Given the description of an element on the screen output the (x, y) to click on. 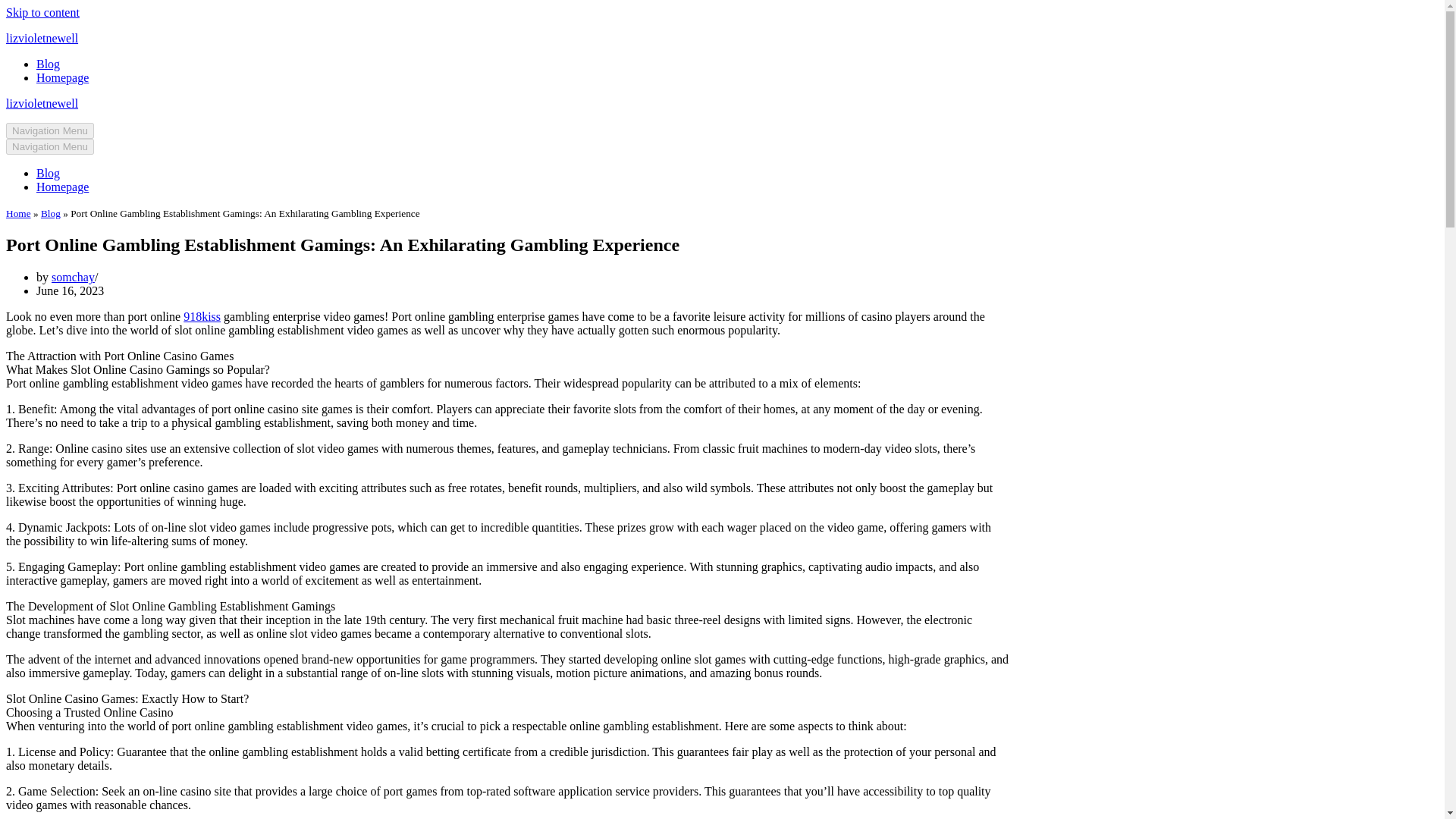
Blog (47, 173)
Navigation Menu (49, 146)
Skip to content (42, 11)
Posts by somchay (72, 277)
somchay (72, 277)
Blog (47, 63)
918kiss (202, 316)
Homepage (62, 77)
Navigation Menu (49, 130)
Home (17, 213)
Blog (50, 213)
Homepage (62, 186)
